Given the description of an element on the screen output the (x, y) to click on. 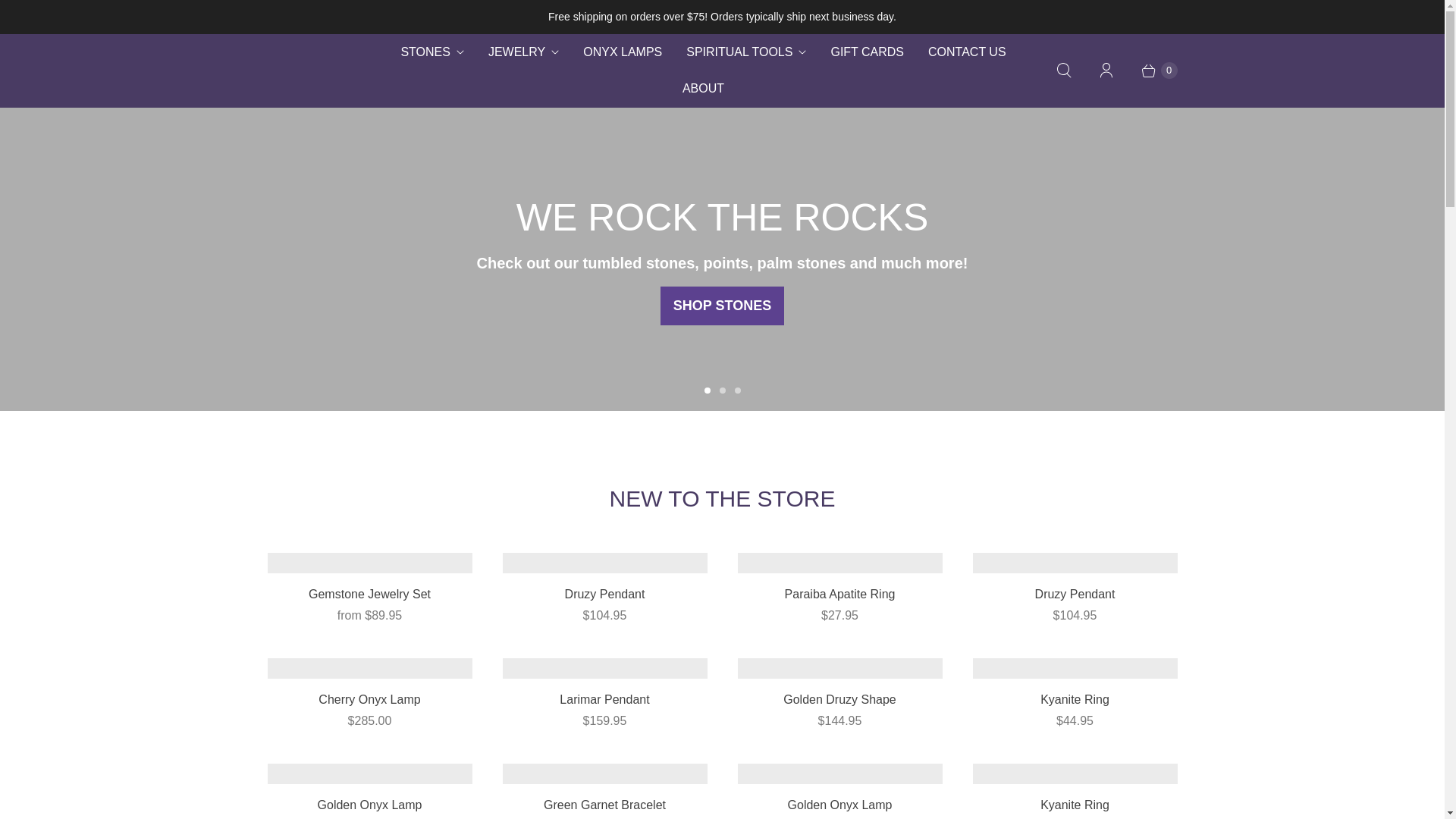
GIFT CARDS (866, 52)
0 (1151, 70)
ONYX LAMPS (622, 52)
CONTACT US (966, 52)
ABOUT (702, 88)
